Given the description of an element on the screen output the (x, y) to click on. 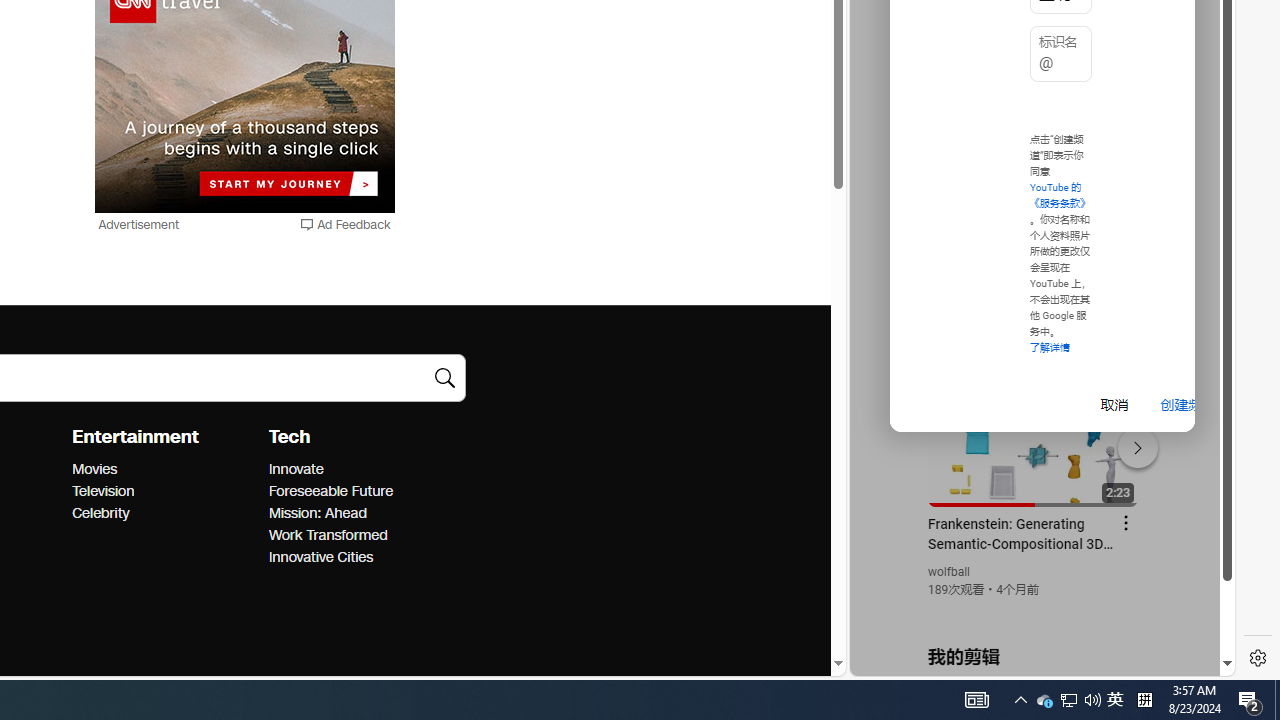
Class: dict_pnIcon rms_img (1028, 660)
Submit (443, 377)
